Given the description of an element on the screen output the (x, y) to click on. 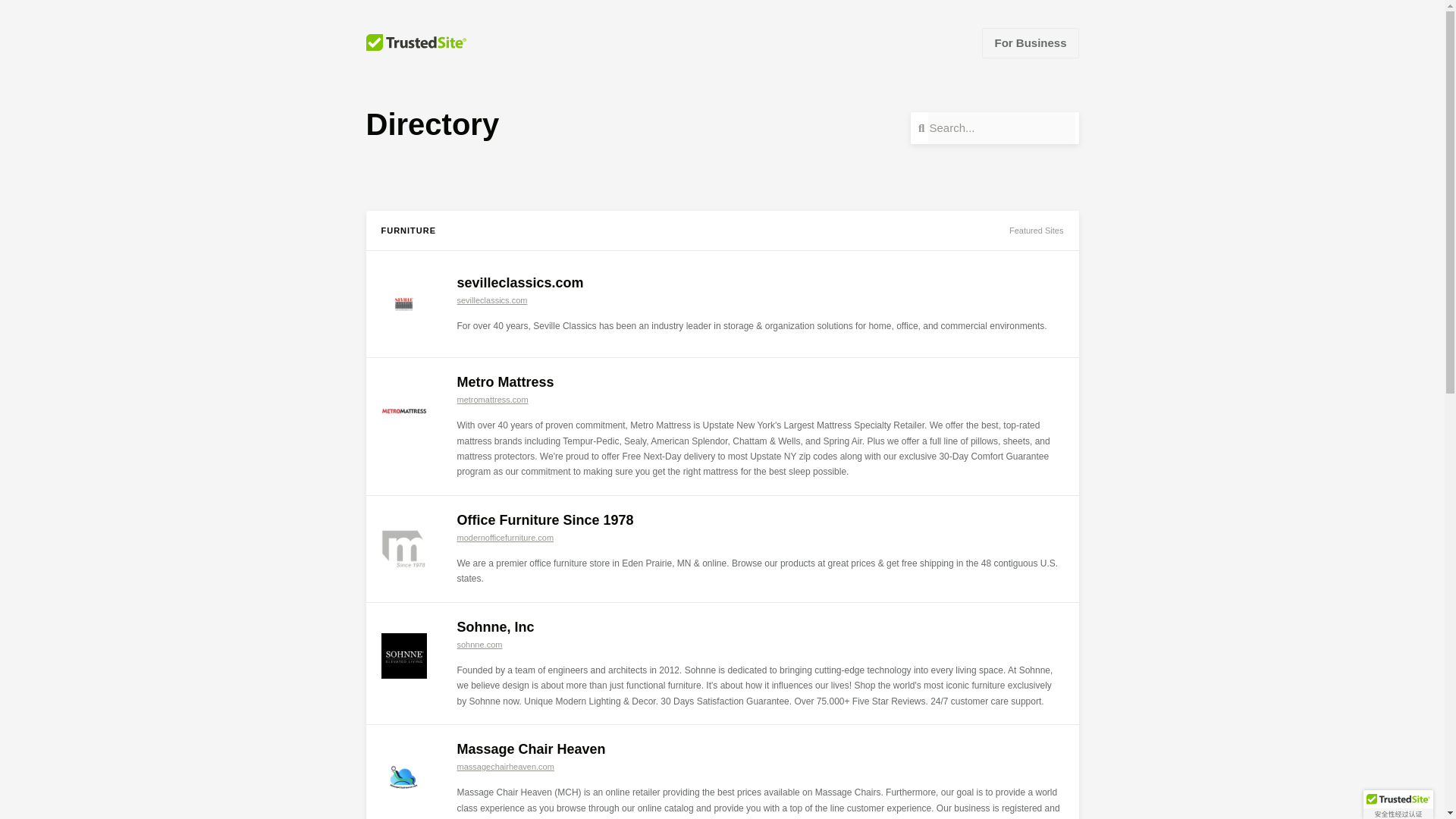
TrustedSite Certified (1397, 804)
sevilleclassics.com (492, 299)
metromattress.com (492, 399)
Sohnne, Inc (495, 626)
sevilleclassics.com (520, 282)
Featured Sites (1036, 230)
Office Furniture Since 1978 (545, 519)
For Business (1029, 42)
sohnne.com (479, 644)
Massage Chair Heaven (531, 749)
Metro Mattress (505, 381)
massagechairheaven.com (505, 766)
modernofficefurniture.com (505, 537)
